Given the description of an element on the screen output the (x, y) to click on. 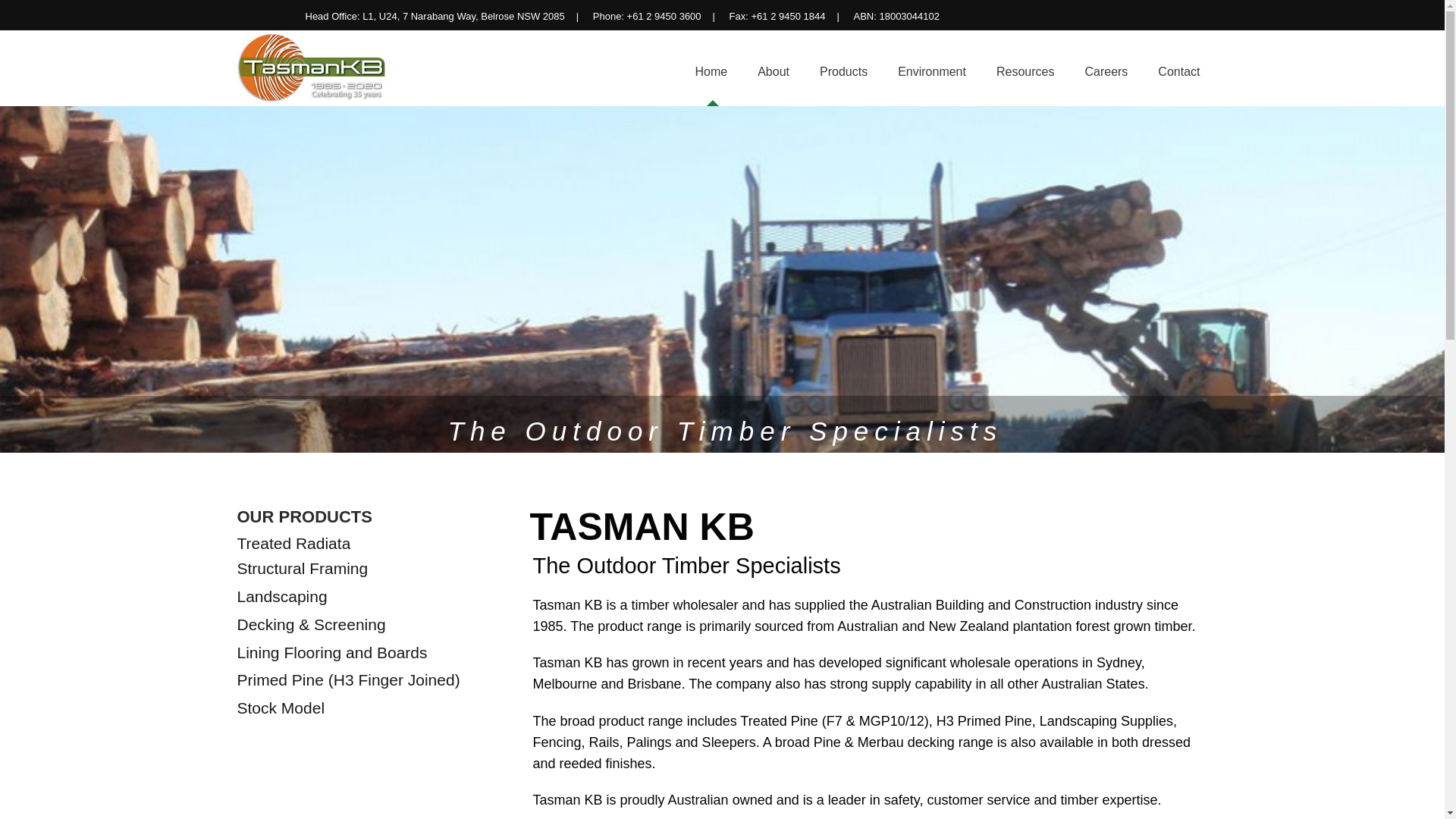
Environment (932, 70)
